Given the description of an element on the screen output the (x, y) to click on. 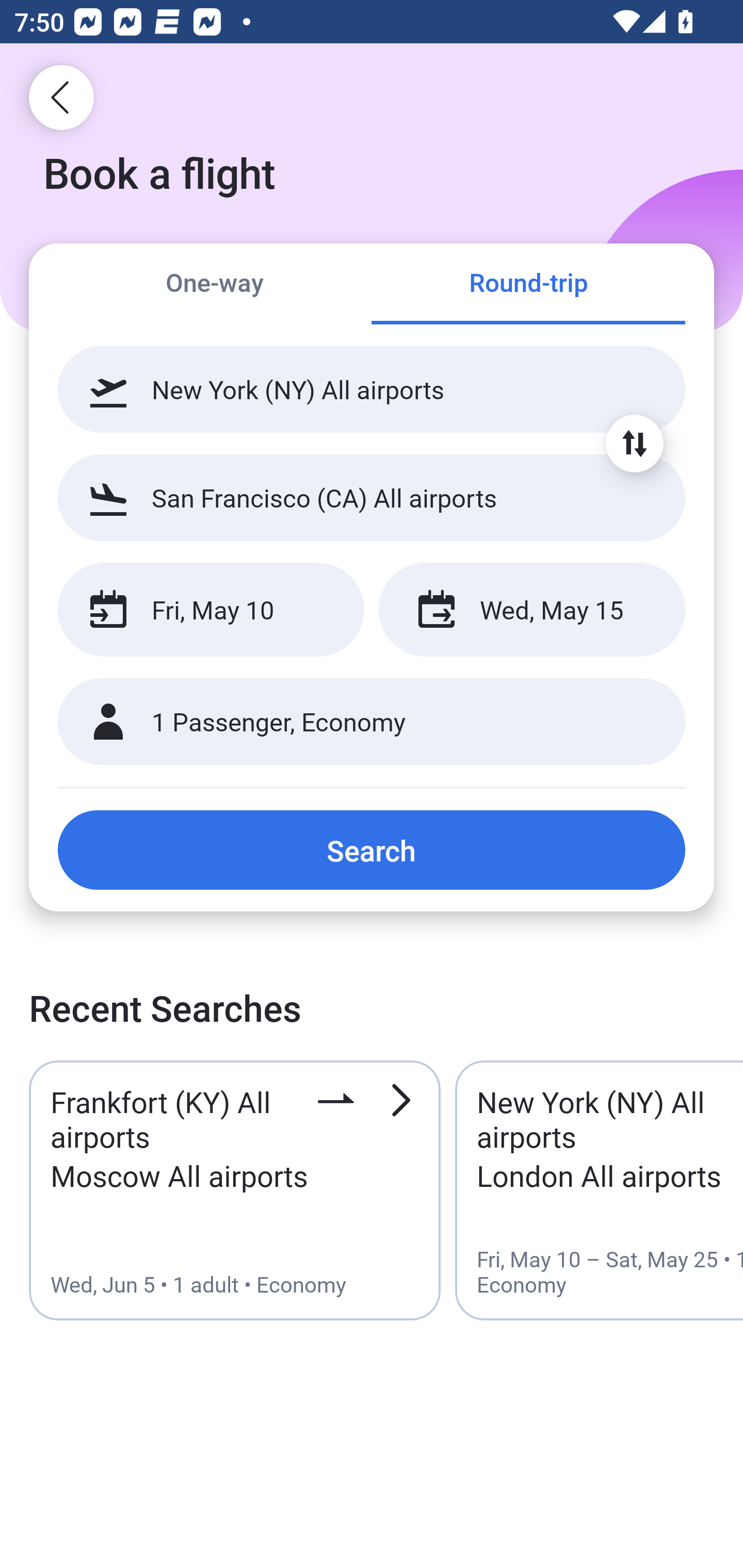
One-way (214, 284)
New York (NY) All airports (371, 389)
San Francisco (CA) All airports (371, 497)
Fri, May 10 (210, 609)
Wed, May 15 (531, 609)
1 Passenger, Economy (371, 721)
Search (371, 849)
